Given the description of an element on the screen output the (x, y) to click on. 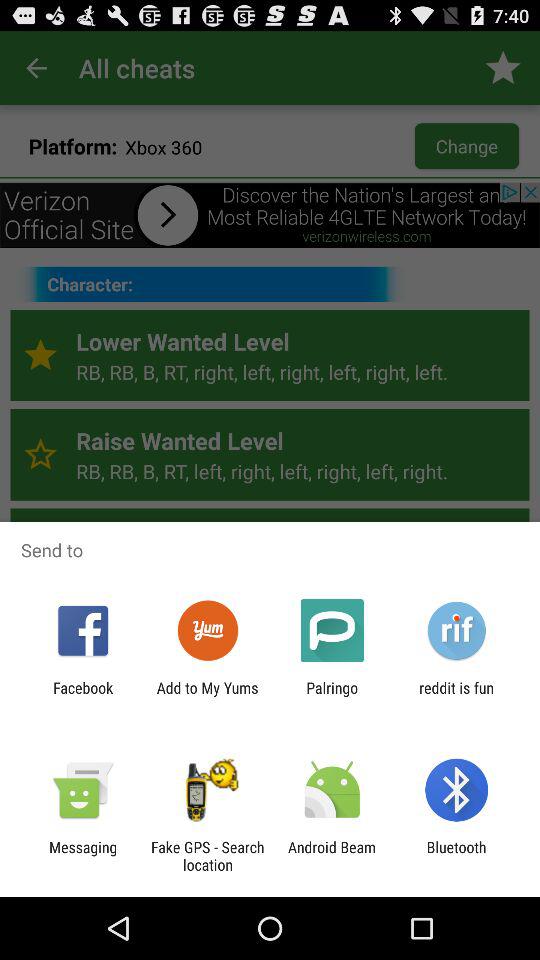
scroll until palringo item (332, 696)
